Given the description of an element on the screen output the (x, y) to click on. 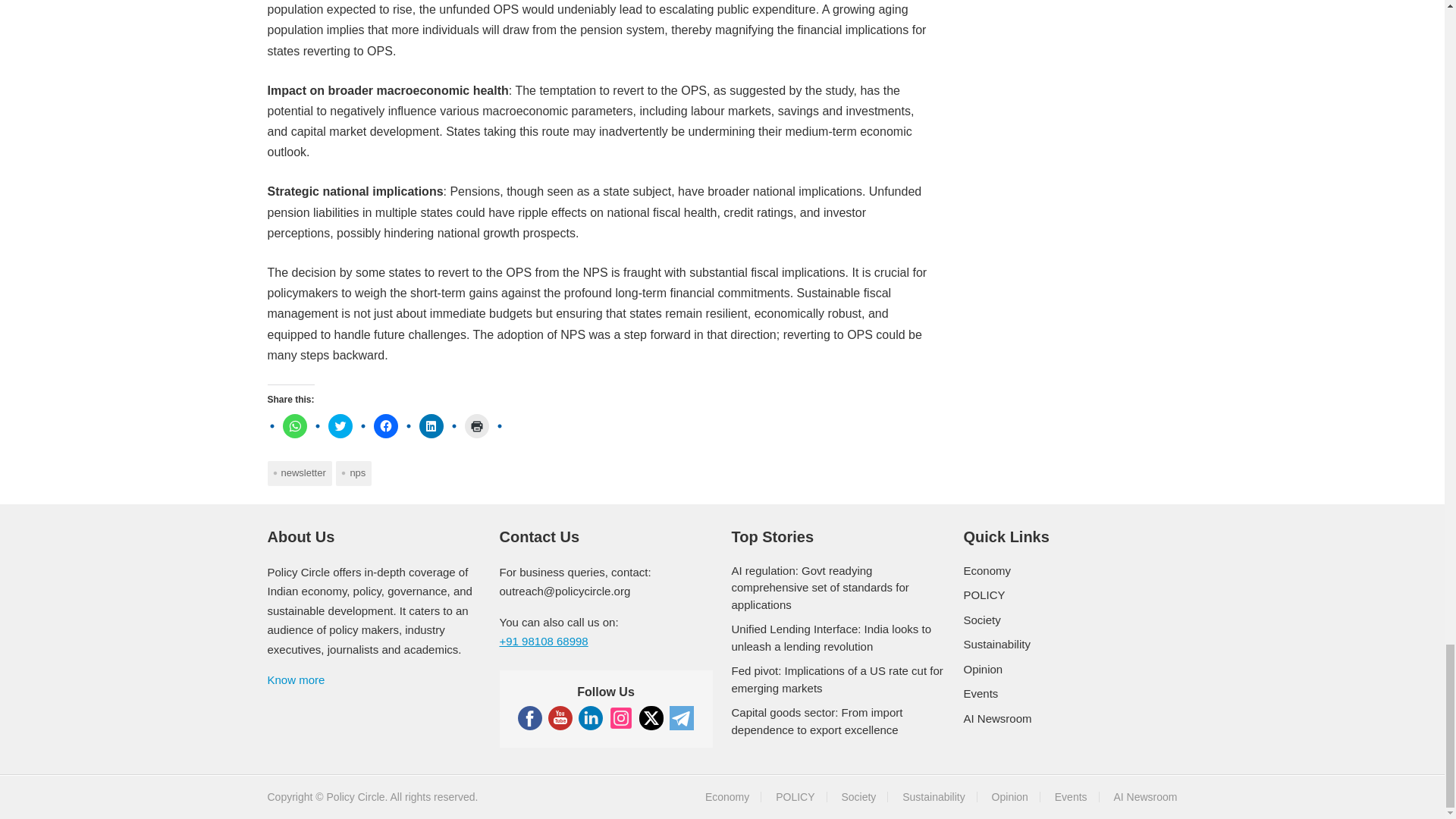
Click to share on Twitter (339, 426)
Click to share on LinkedIn (430, 426)
Click to share on Facebook (384, 426)
Click to print (475, 426)
Click to share on WhatsApp (293, 426)
